Given the description of an element on the screen output the (x, y) to click on. 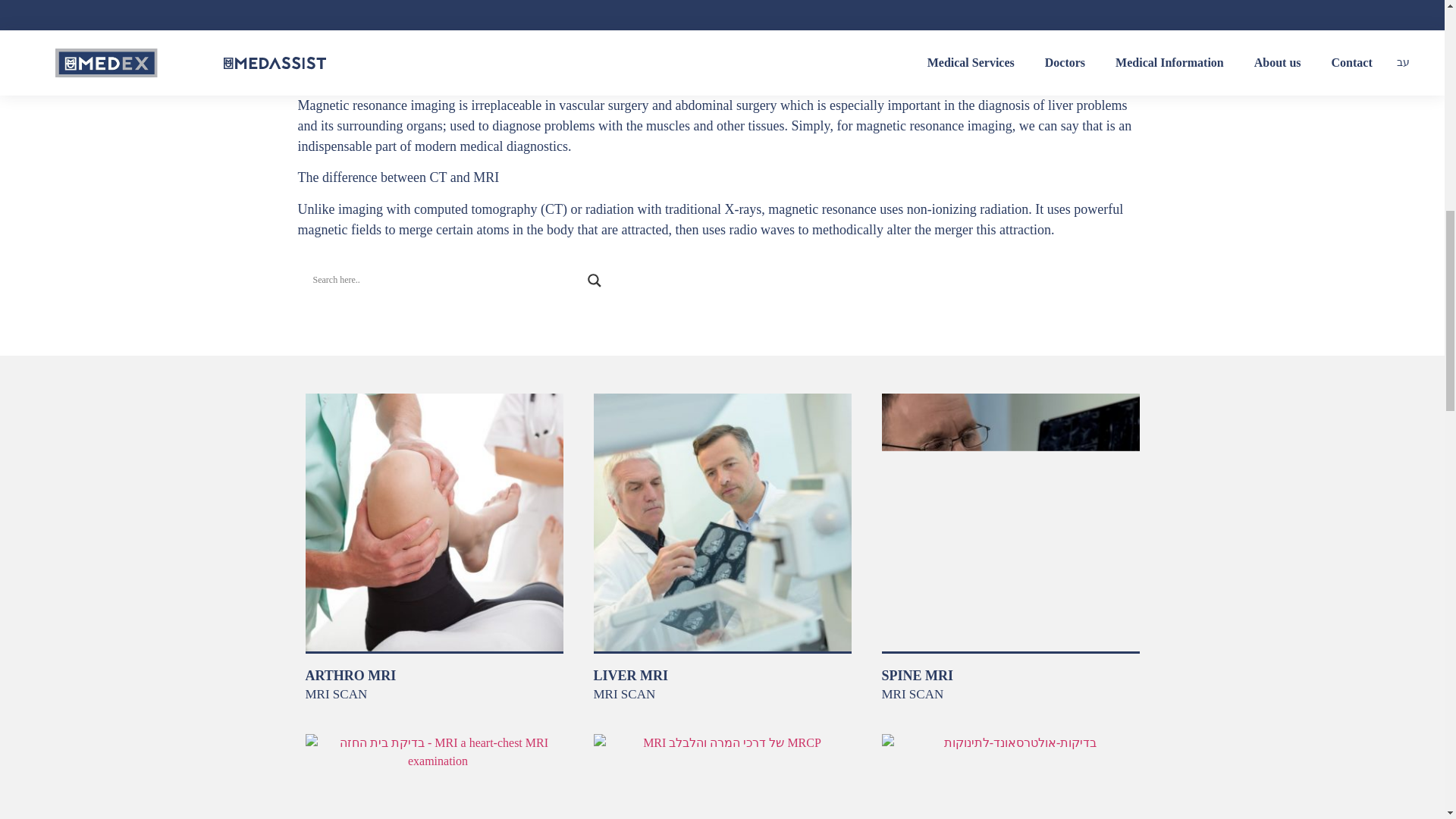
MRI SCAN (623, 694)
MRI SCAN (911, 694)
SPINE MRI (916, 675)
ARTHRO MRI (350, 675)
LIVER MRI (630, 675)
MRI SCAN (335, 694)
